Given the description of an element on the screen output the (x, y) to click on. 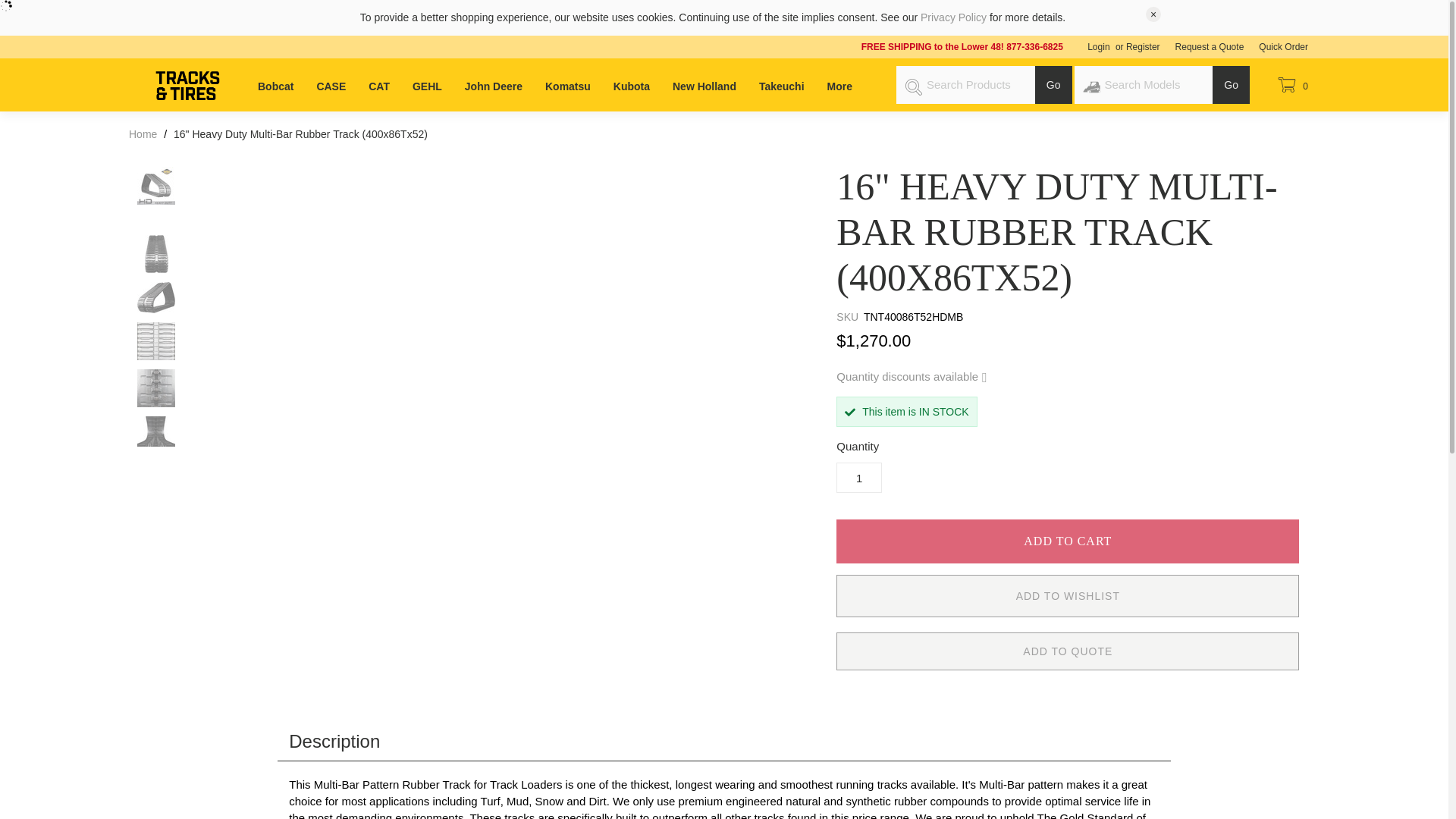
Request a Quote (1209, 47)
Quick Order (1283, 47)
MWE (187, 98)
Bobcat (275, 77)
Login (1095, 47)
1 (858, 477)
Quick Order (1283, 47)
Cart (1291, 86)
Request a Quote (1209, 47)
Register (1146, 47)
Privacy Policy (953, 17)
